Given the description of an element on the screen output the (x, y) to click on. 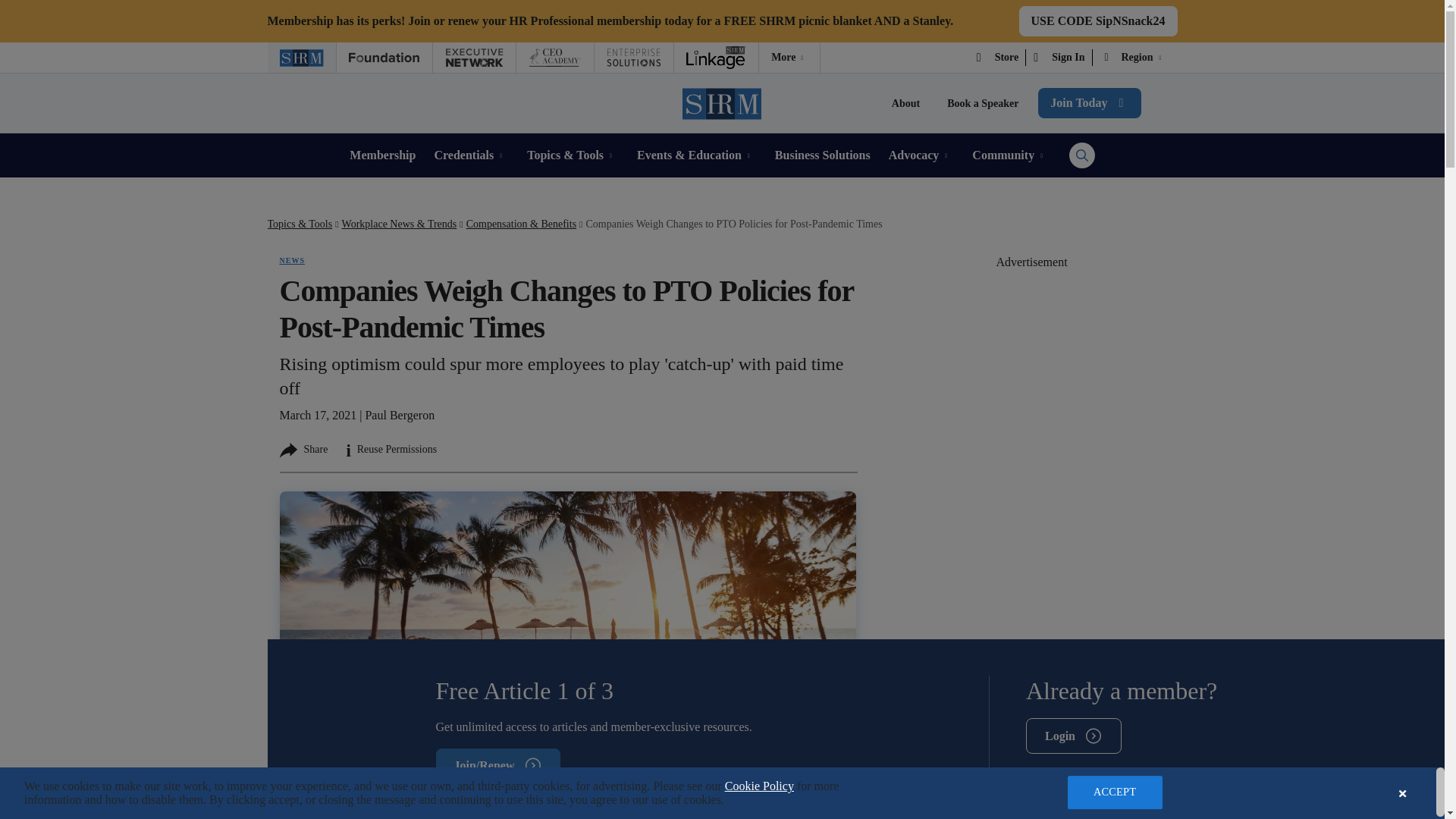
Foundation (384, 57)
SHRM (300, 57)
Primary (1098, 20)
Store (997, 57)
Executive network (473, 57)
CEO Academy (553, 57)
Membership (381, 155)
Join Today (1089, 102)
Linkage (715, 57)
logo image (788, 57)
Book a Speaker (982, 103)
Sign In (1059, 57)
USE CODE SipNSnack24 (1098, 20)
Enterprise Solutions (633, 57)
Credentials (470, 155)
